Given the description of an element on the screen output the (x, y) to click on. 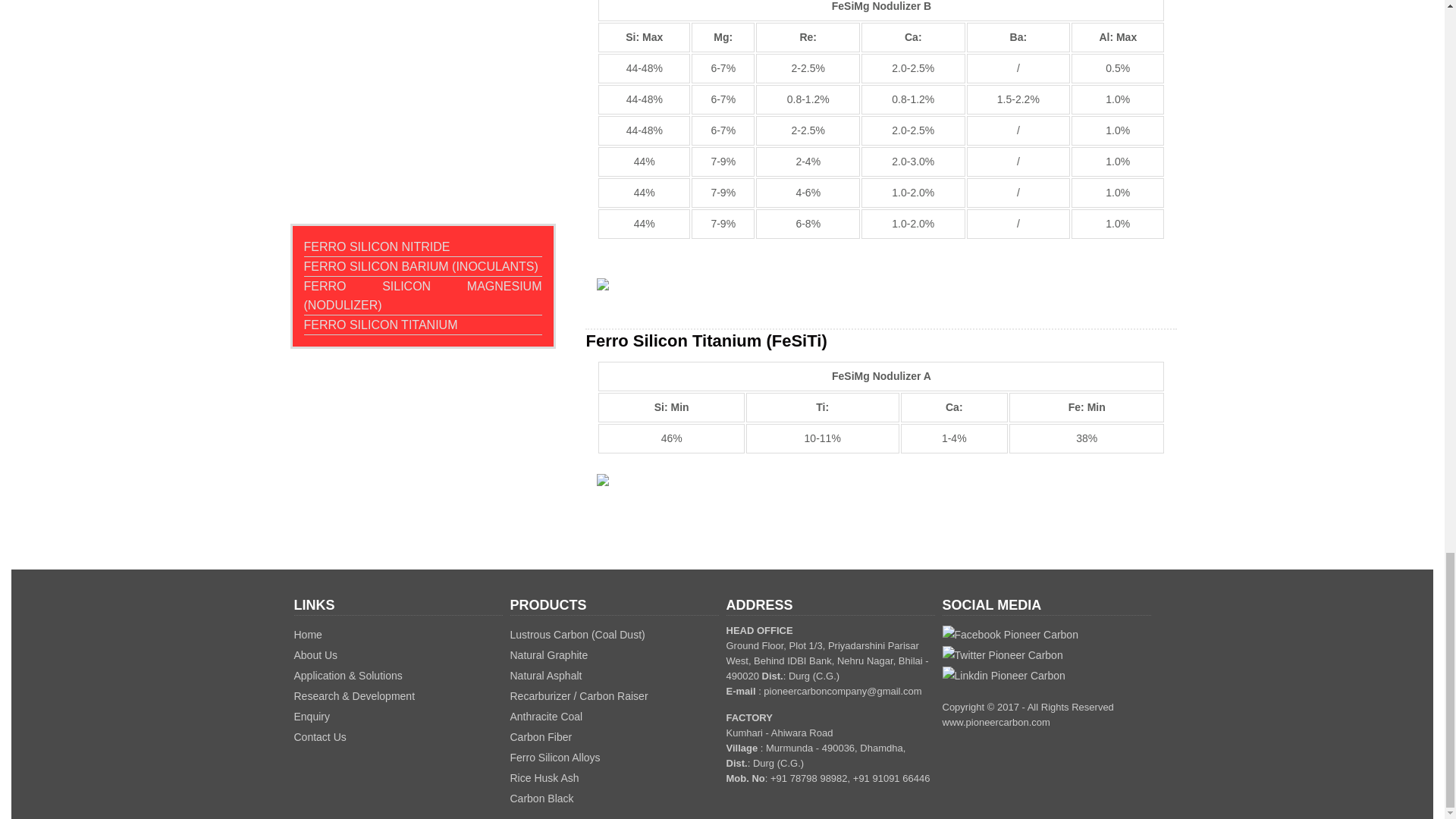
Home (307, 634)
Contact Us (320, 736)
Enquiry (312, 716)
Natural Asphalt (544, 675)
About Us (315, 654)
Natural Graphite (548, 654)
